Given the description of an element on the screen output the (x, y) to click on. 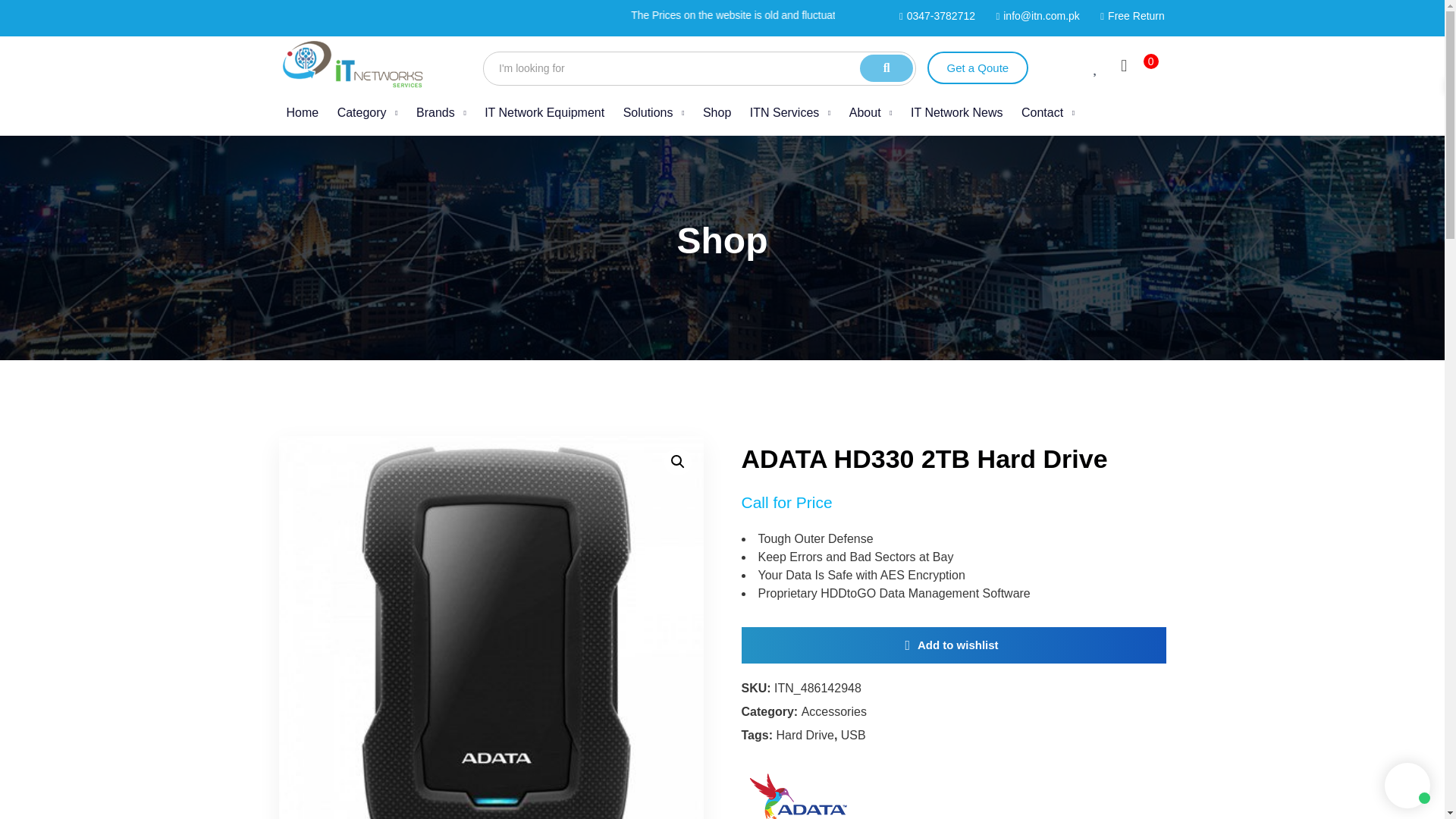
Search (699, 68)
ADATA (798, 788)
Home (302, 112)
Free Return (1128, 16)
Get a Qoute (722, 66)
0347-3782712 (976, 67)
Category (932, 16)
